Given the description of an element on the screen output the (x, y) to click on. 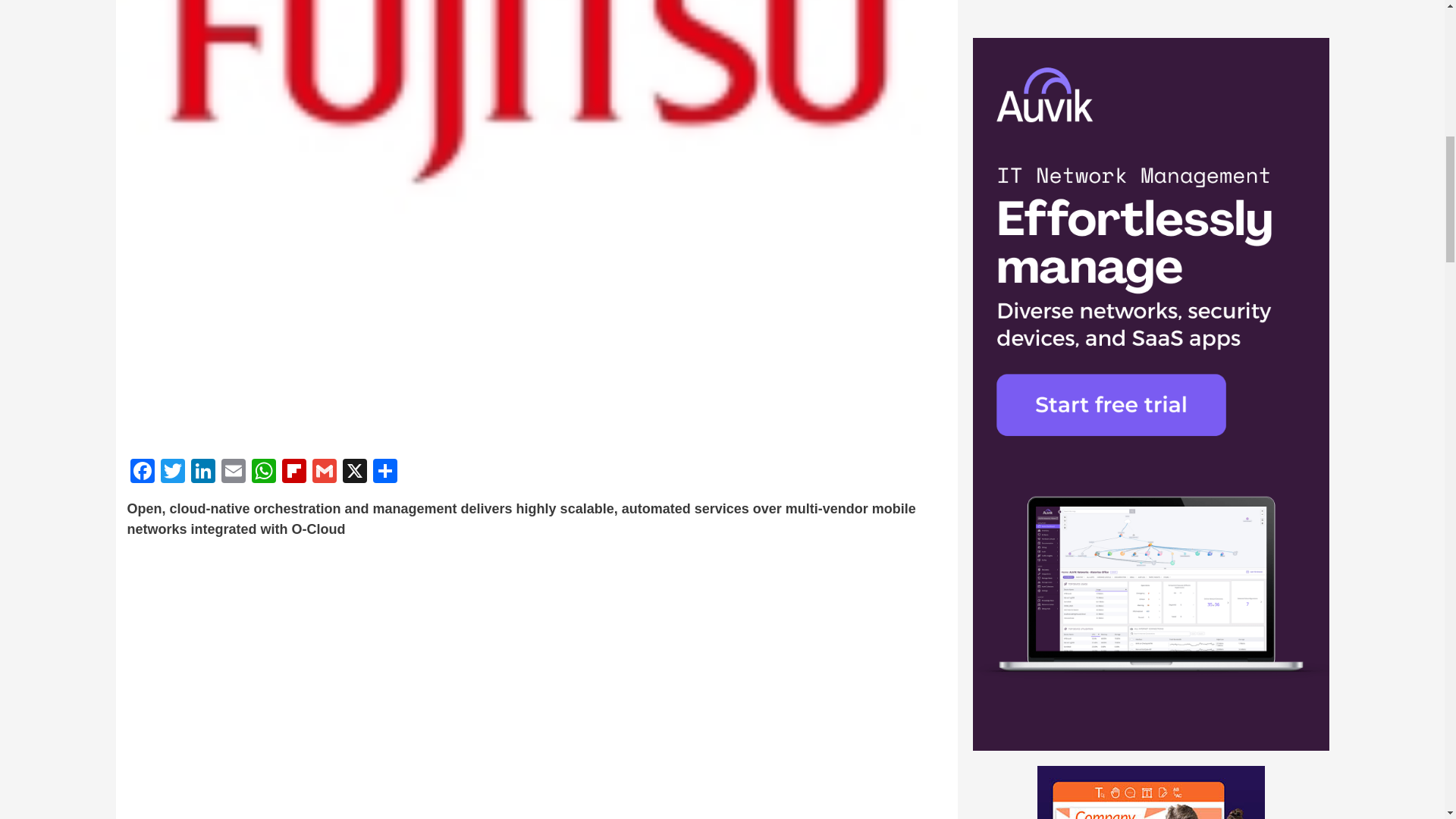
Flipboard (293, 472)
Flipboard (293, 472)
Email (233, 472)
Gmail (323, 472)
Twitter (172, 472)
LinkedIn (202, 472)
Twitter (172, 472)
X (354, 472)
WhatsApp (263, 472)
WhatsApp (263, 472)
Facebook (142, 472)
Share (384, 472)
Email (233, 472)
Gmail (323, 472)
X (354, 472)
